Given the description of an element on the screen output the (x, y) to click on. 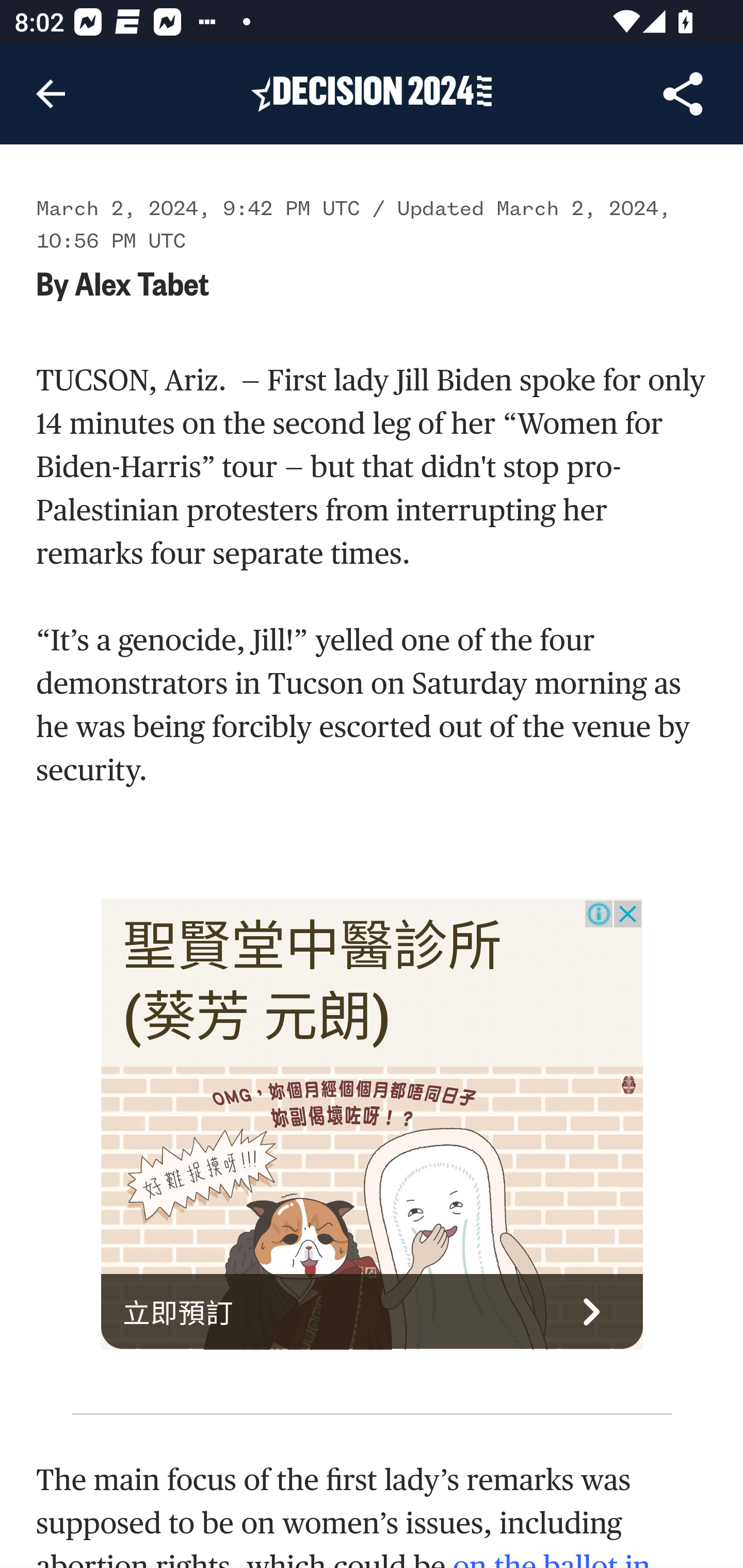
Navigate up (50, 93)
Share Article, button (683, 94)
Header, Decision 2024 (371, 93)
聖賢堂中醫診所 (葵芳 元朗) 聖賢堂中醫診所 (葵芳 元朗) (312, 982)
立即預訂 (372, 1311)
